Given the description of an element on the screen output the (x, y) to click on. 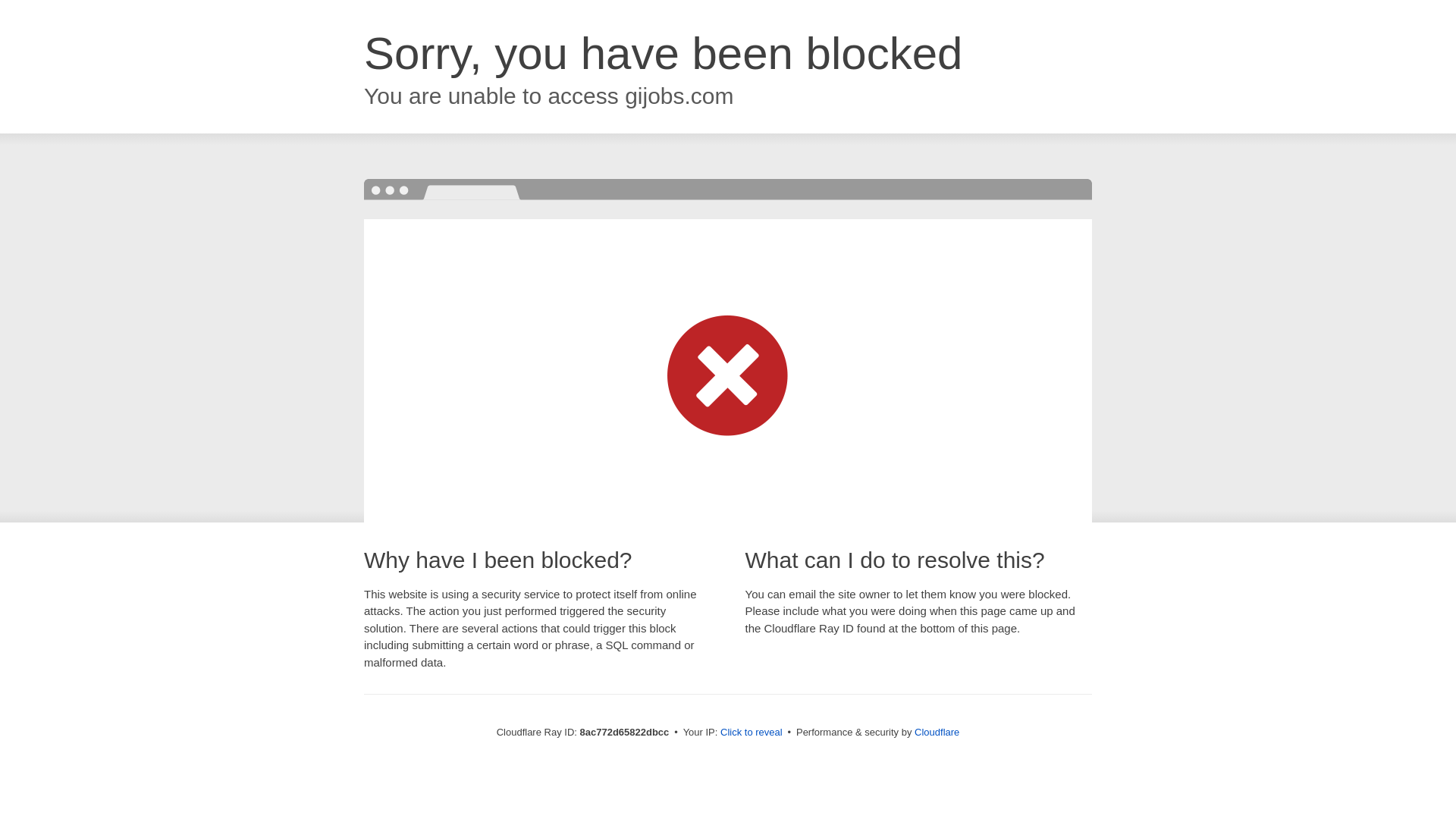
Cloudflare (936, 731)
Click to reveal (751, 732)
